Given the description of an element on the screen output the (x, y) to click on. 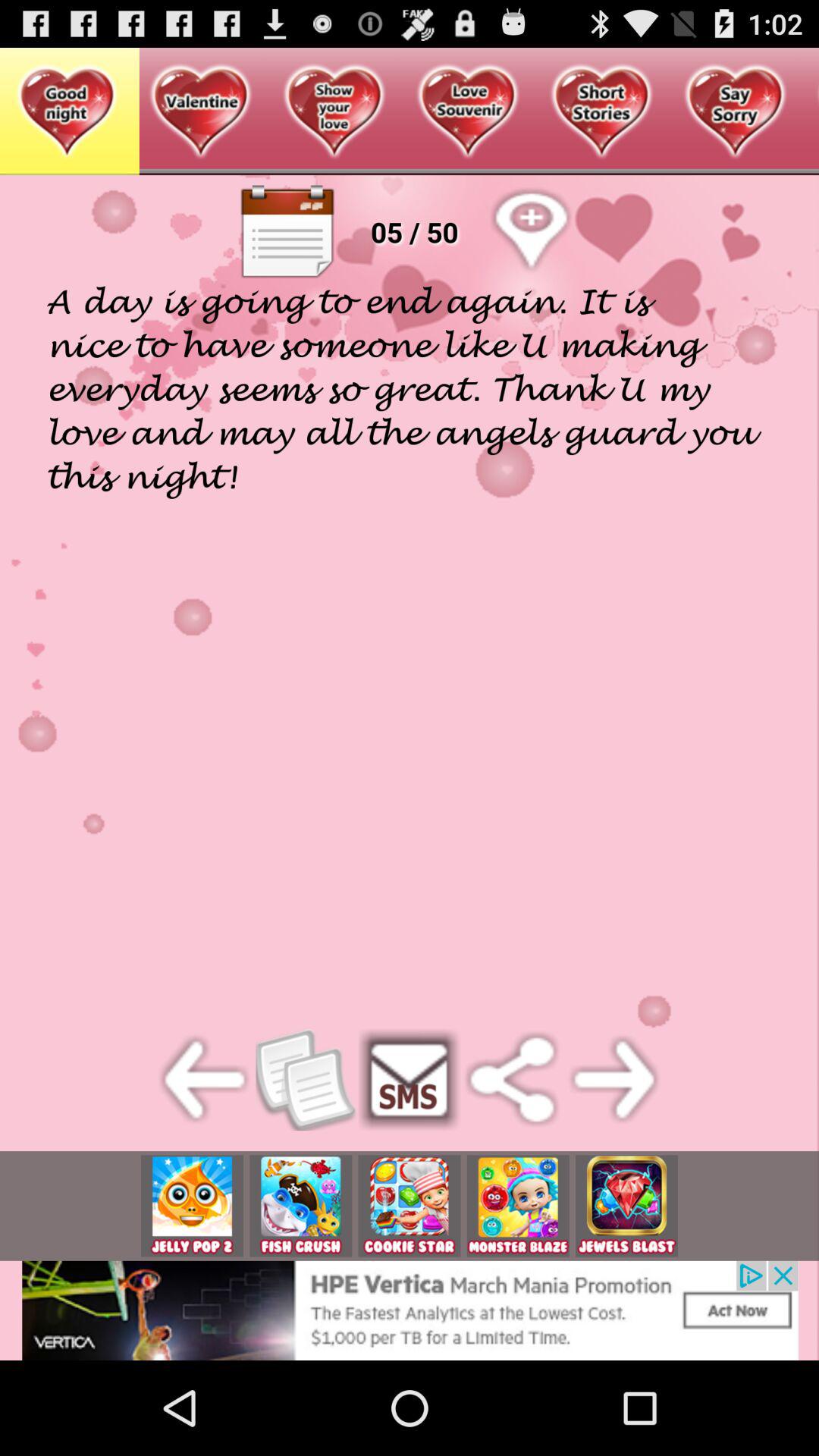
go forward (614, 1079)
